Given the description of an element on the screen output the (x, y) to click on. 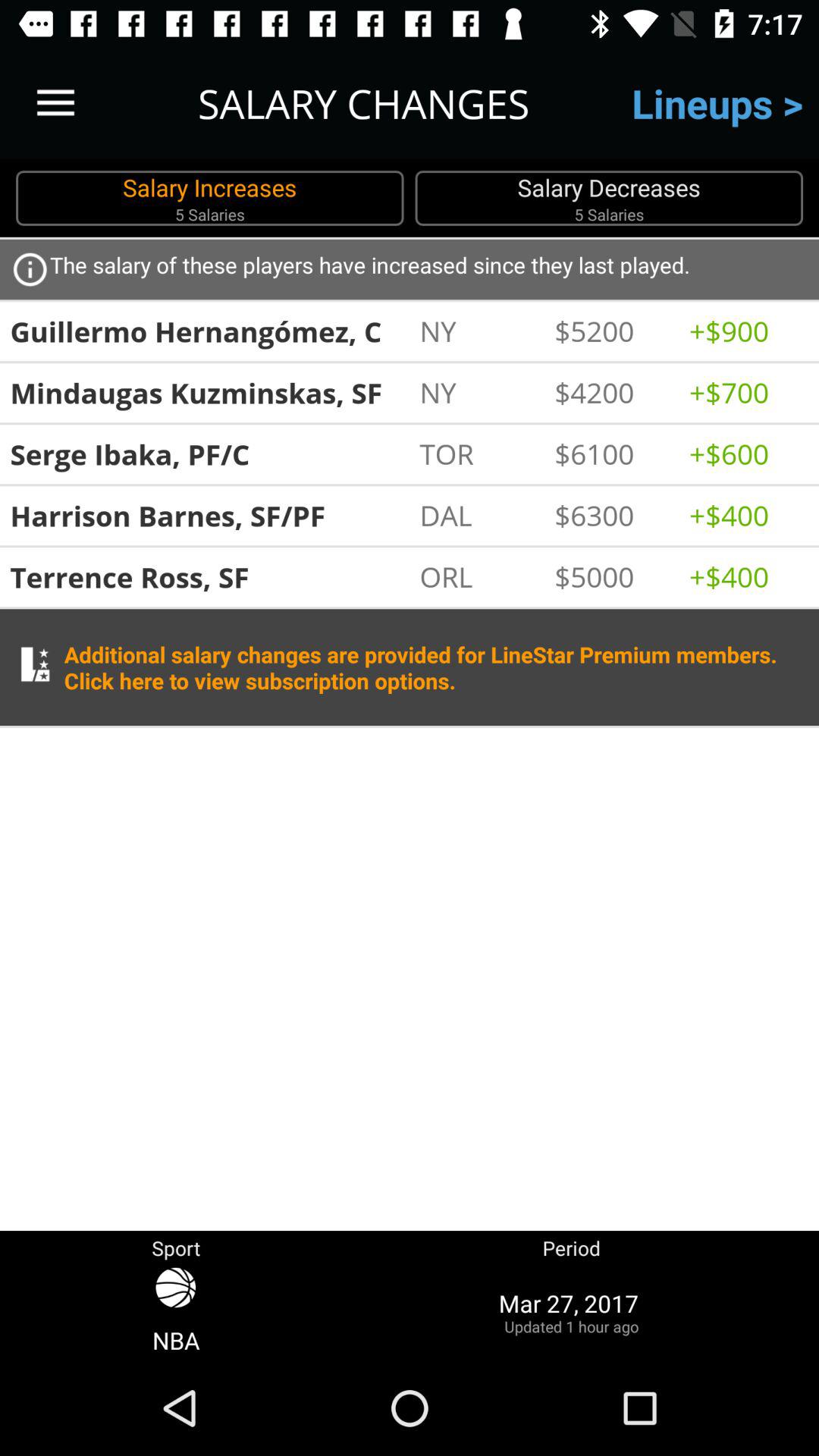
choose the icon to the left of salary changes item (55, 103)
